Given the description of an element on the screen output the (x, y) to click on. 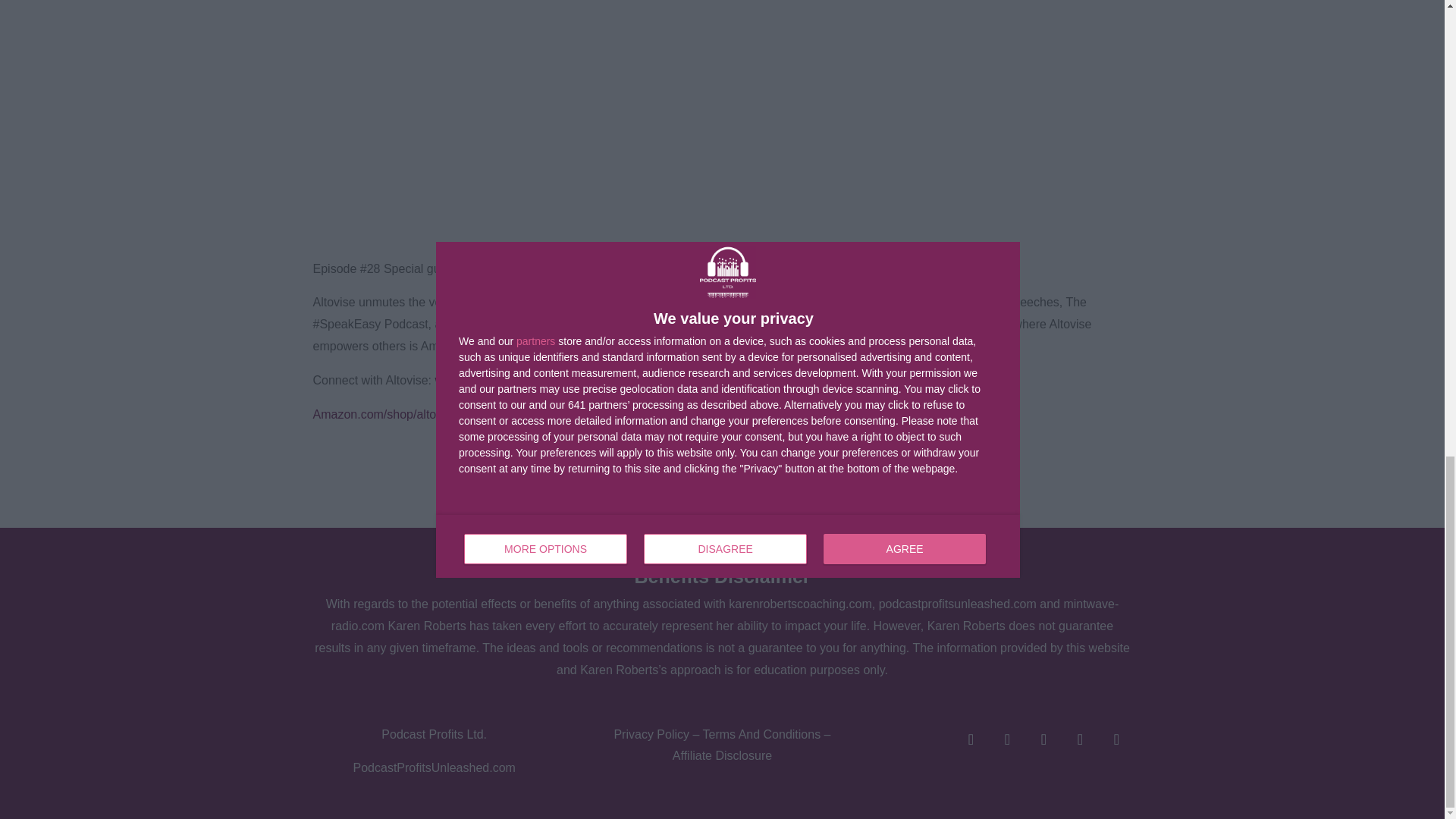
Follow on Youtube (1115, 738)
www.iamunmuted.com (494, 379)
Follow on Facebook (1006, 738)
Follow on Instagram (1079, 738)
Follow on LinkedIn (970, 738)
Follow on X (1042, 738)
PodcastProfitsUnleashed.com (434, 767)
